Given the description of an element on the screen output the (x, y) to click on. 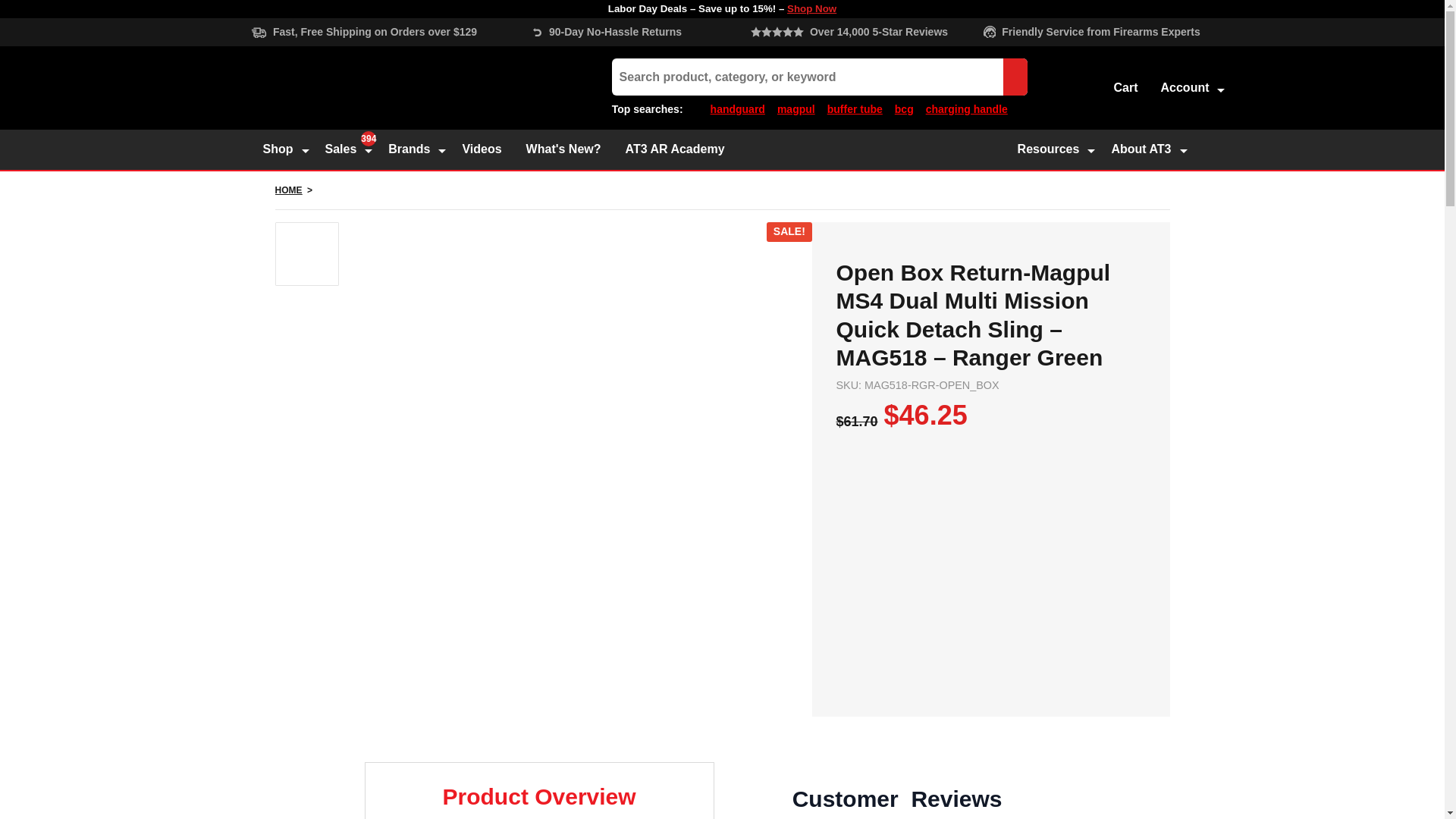
Sales (345, 149)
Resources (1053, 149)
charging handle (966, 109)
What'S New? (564, 149)
What's New? (564, 149)
Videos (483, 149)
buffer tube (854, 109)
Shop (282, 149)
Shop (282, 149)
